Given the description of an element on the screen output the (x, y) to click on. 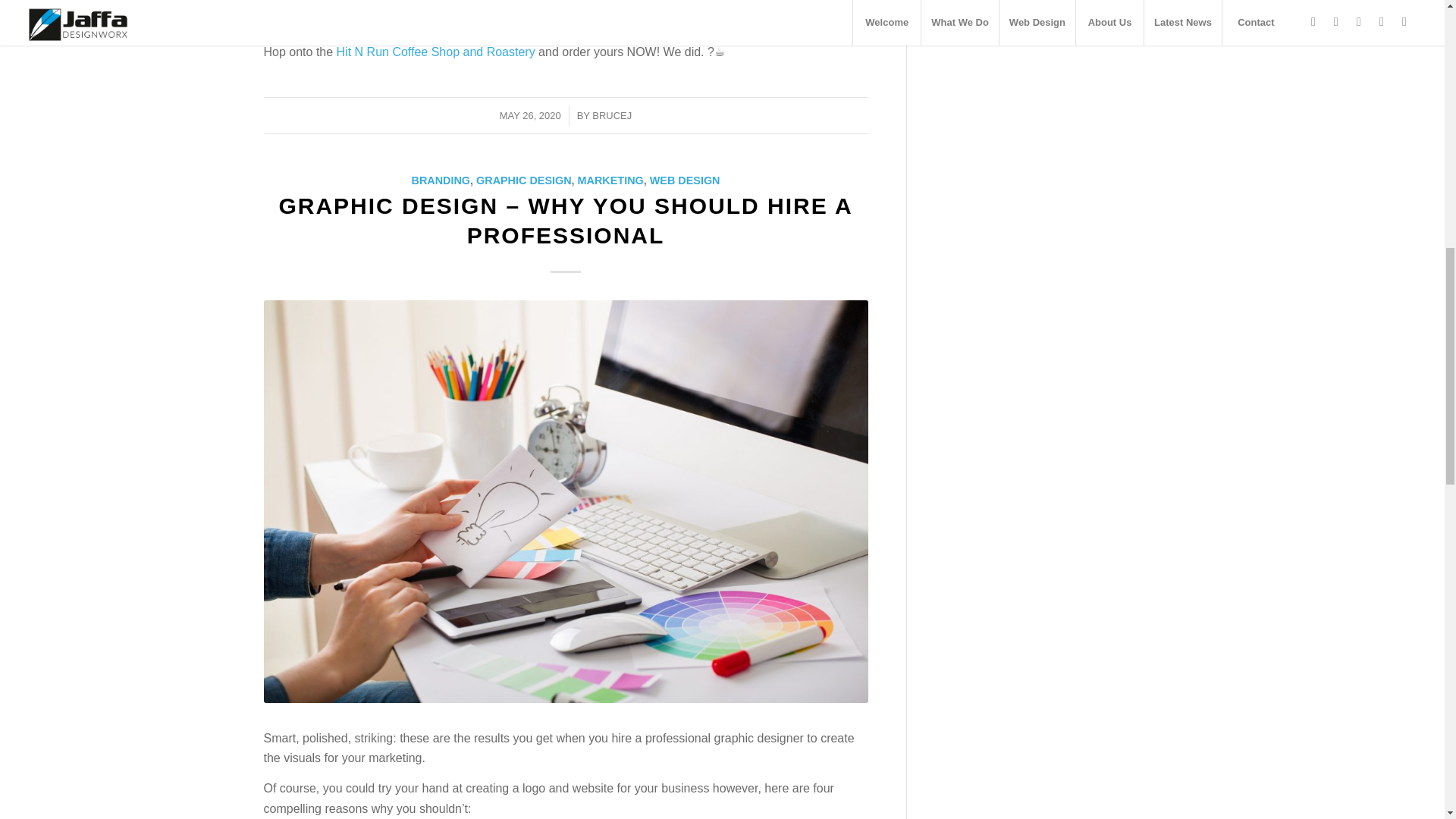
BRANDING (440, 180)
Posts by brucej (611, 115)
MARKETING (610, 180)
GRAPHIC DESIGN (524, 180)
BRUCEJ (611, 115)
Hit N Run Coffee Shop and Roastery (435, 51)
WEB DESIGN (684, 180)
